Given the description of an element on the screen output the (x, y) to click on. 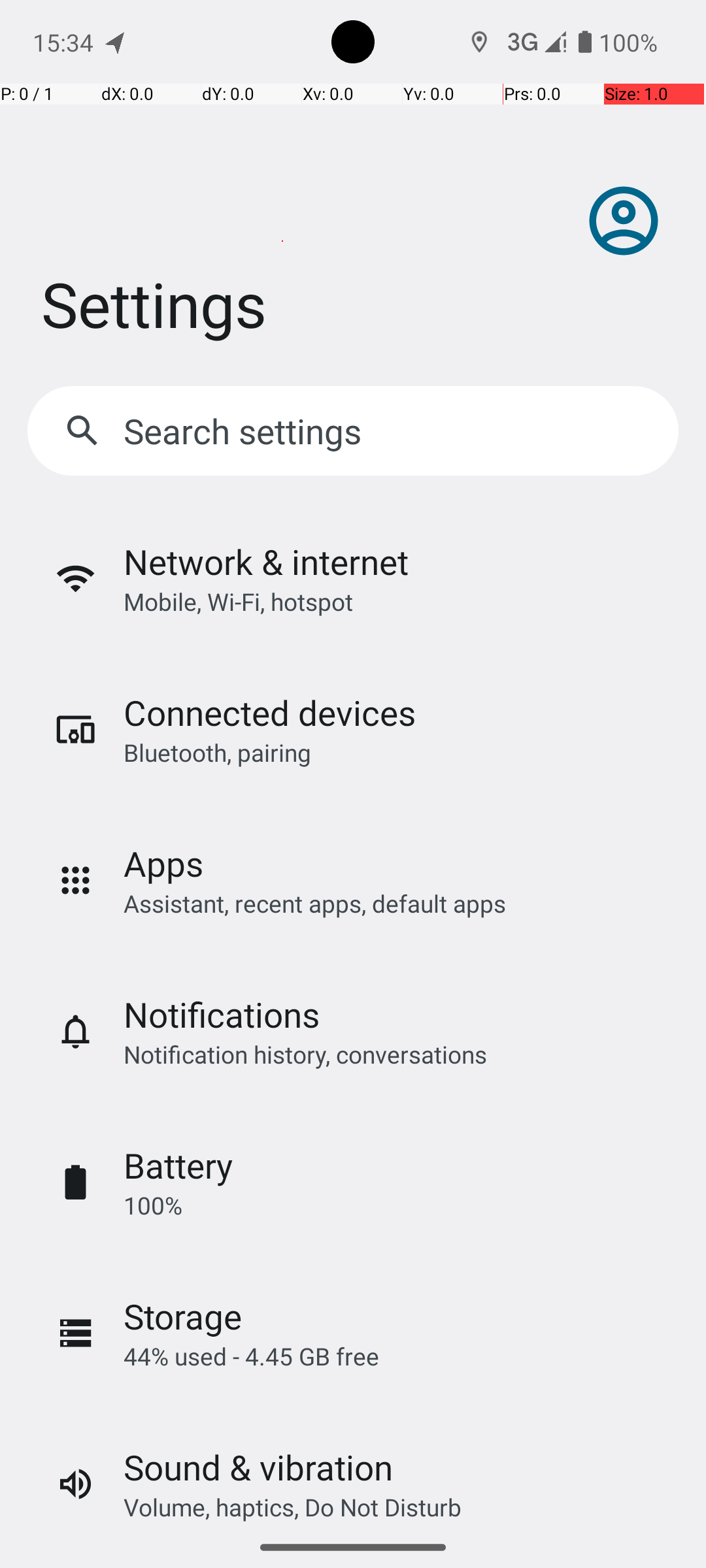
Profile picture, double tap to open Google Account Element type: android.widget.ImageView (623, 220)
Search settings Element type: android.widget.TextView (245, 430)
Network & internet Element type: android.widget.TextView (265, 561)
Mobile, Wi‑Fi, hotspot Element type: android.widget.TextView (238, 601)
Connected devices Element type: android.widget.TextView (269, 712)
Bluetooth, pairing Element type: android.widget.TextView (217, 751)
Apps Element type: android.widget.TextView (163, 863)
Assistant, recent apps, default apps Element type: android.widget.TextView (314, 902)
Notifications Element type: android.widget.TextView (221, 1014)
Notification history, conversations Element type: android.widget.TextView (305, 1053)
Battery Element type: android.widget.TextView (178, 1165)
100% Element type: android.widget.TextView (152, 1204)
Storage Element type: android.widget.TextView (182, 1315)
44% used - 4.45 GB free Element type: android.widget.TextView (251, 1355)
Sound & vibration Element type: android.widget.TextView (257, 1466)
Volume, haptics, Do Not Disturb Element type: android.widget.TextView (292, 1506)
